Given the description of an element on the screen output the (x, y) to click on. 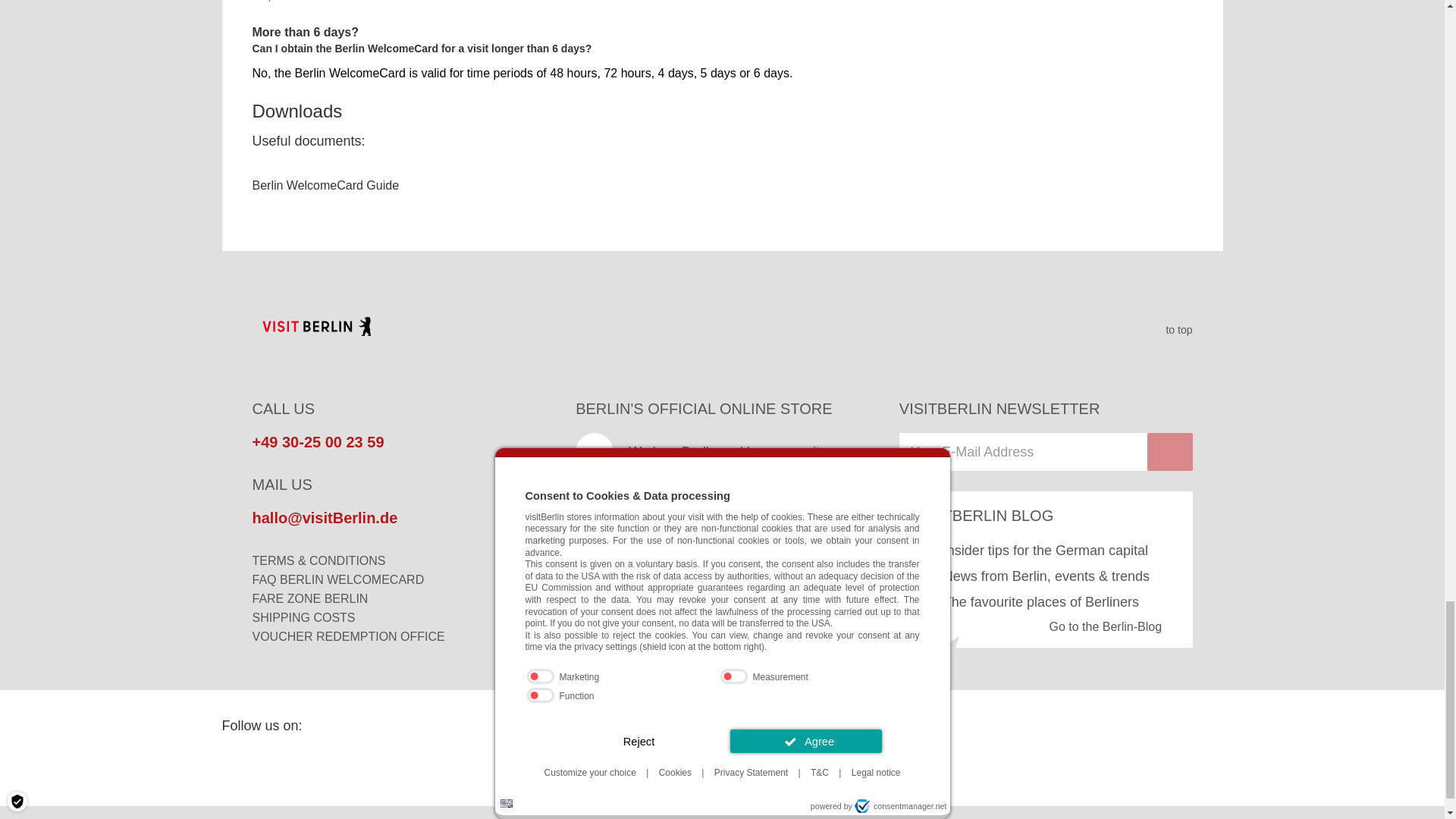
Subscribe (1169, 451)
FAQ Berlin WelcomeCard (337, 579)
Fare Zone Berlin (309, 598)
Sign up for our newsletter (1023, 451)
Voucher Redemption Office (347, 635)
Shipping Costs (303, 617)
